Given the description of an element on the screen output the (x, y) to click on. 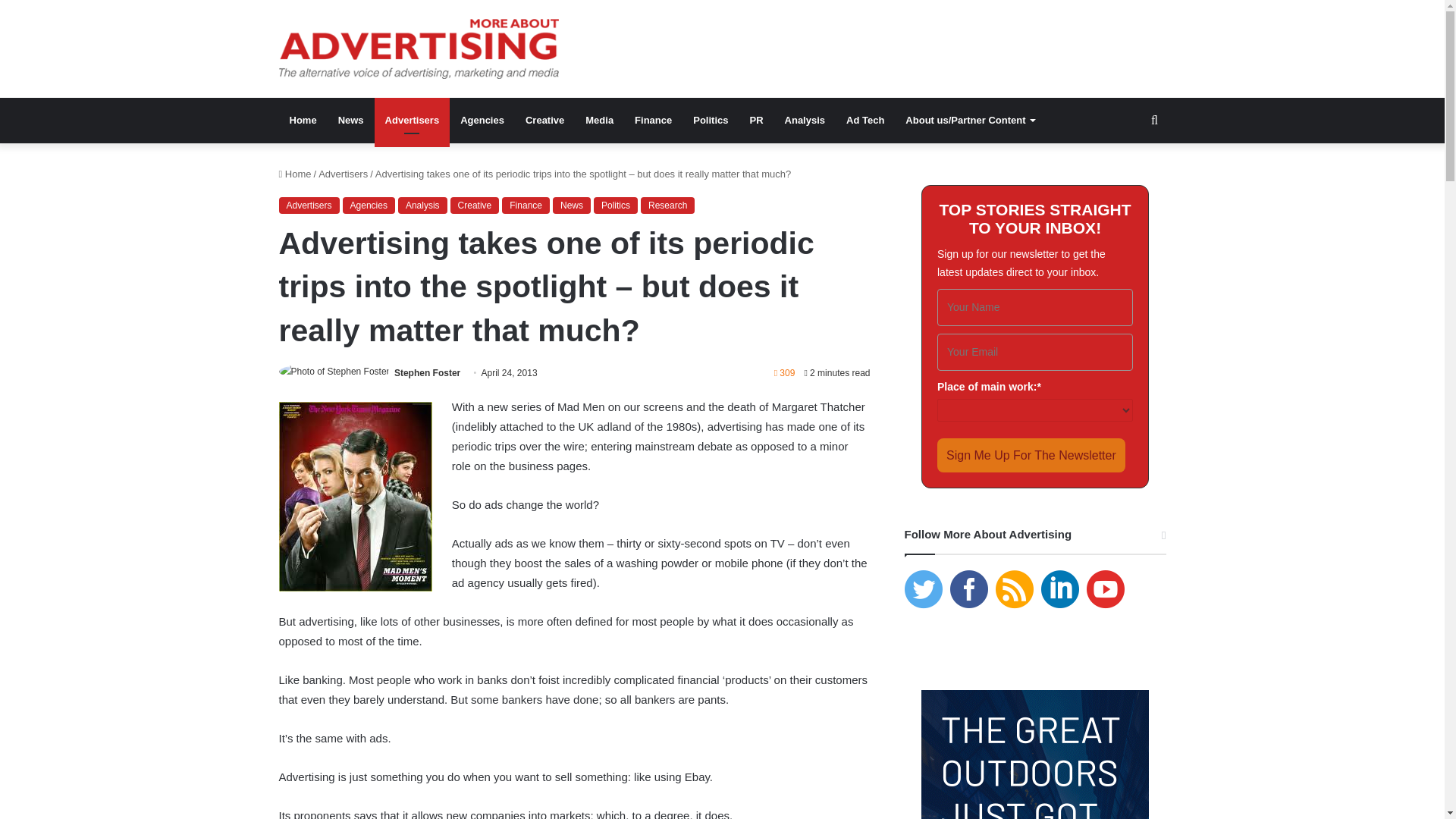
More About Advertising (419, 48)
Stephen Foster (427, 372)
Analysis (804, 120)
Ad Tech (865, 120)
Finance (526, 205)
Home (295, 173)
Analysis (421, 205)
Agencies (368, 205)
Stephen Foster (427, 372)
Home (303, 120)
Media (599, 120)
Creative (545, 120)
Advertisers (411, 120)
Politics (615, 205)
News (572, 205)
